Given the description of an element on the screen output the (x, y) to click on. 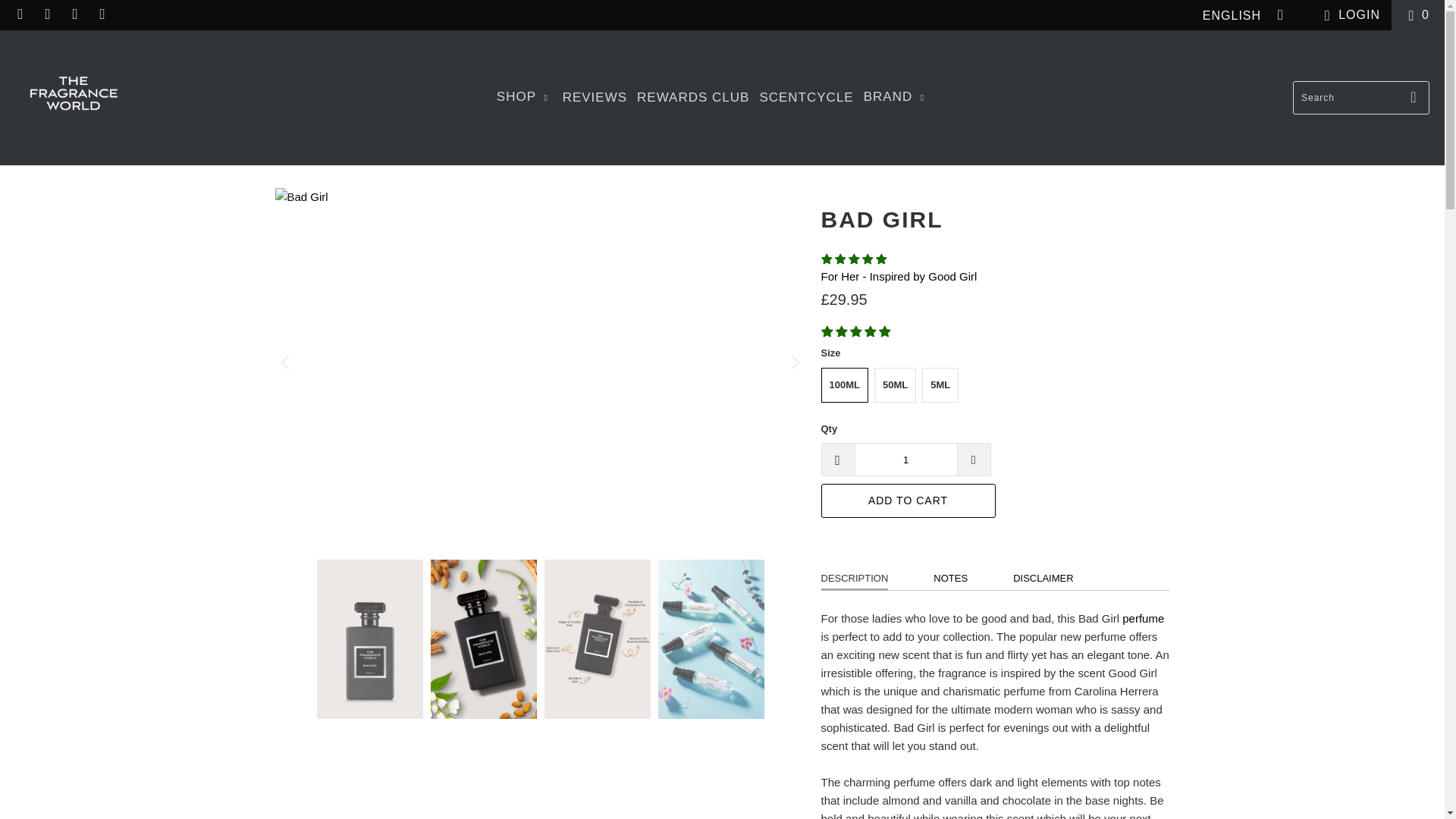
Email The Fragrance World (101, 14)
My Account  (1348, 14)
The Fragrance World on LinkedIn (73, 14)
1 (904, 459)
The Fragrance World (73, 97)
The Fragrance World on Instagram (47, 14)
The Fragrance World on Facebook (19, 14)
